Given the description of an element on the screen output the (x, y) to click on. 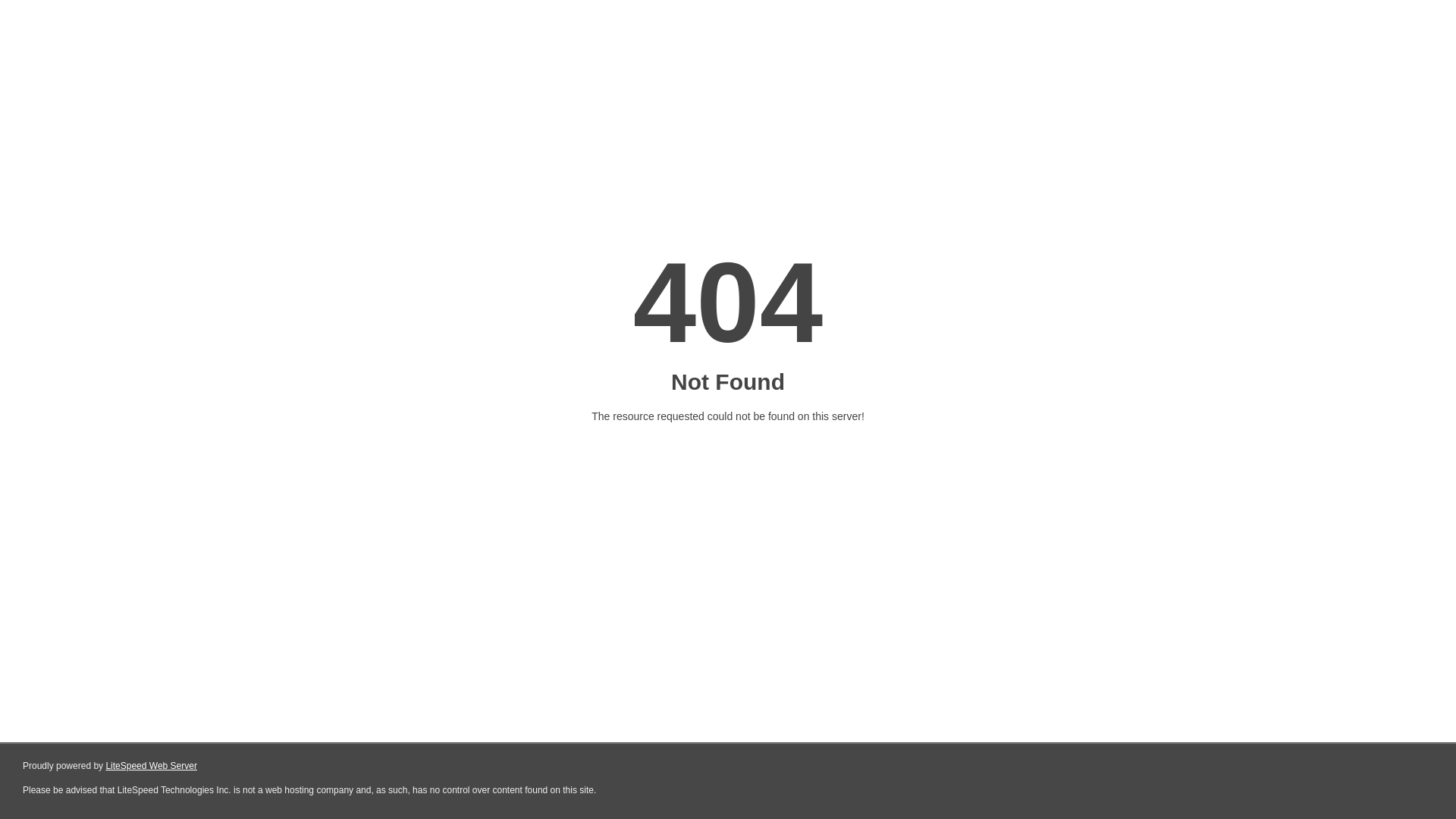
LiteSpeed Web Server (150, 765)
